Given the description of an element on the screen output the (x, y) to click on. 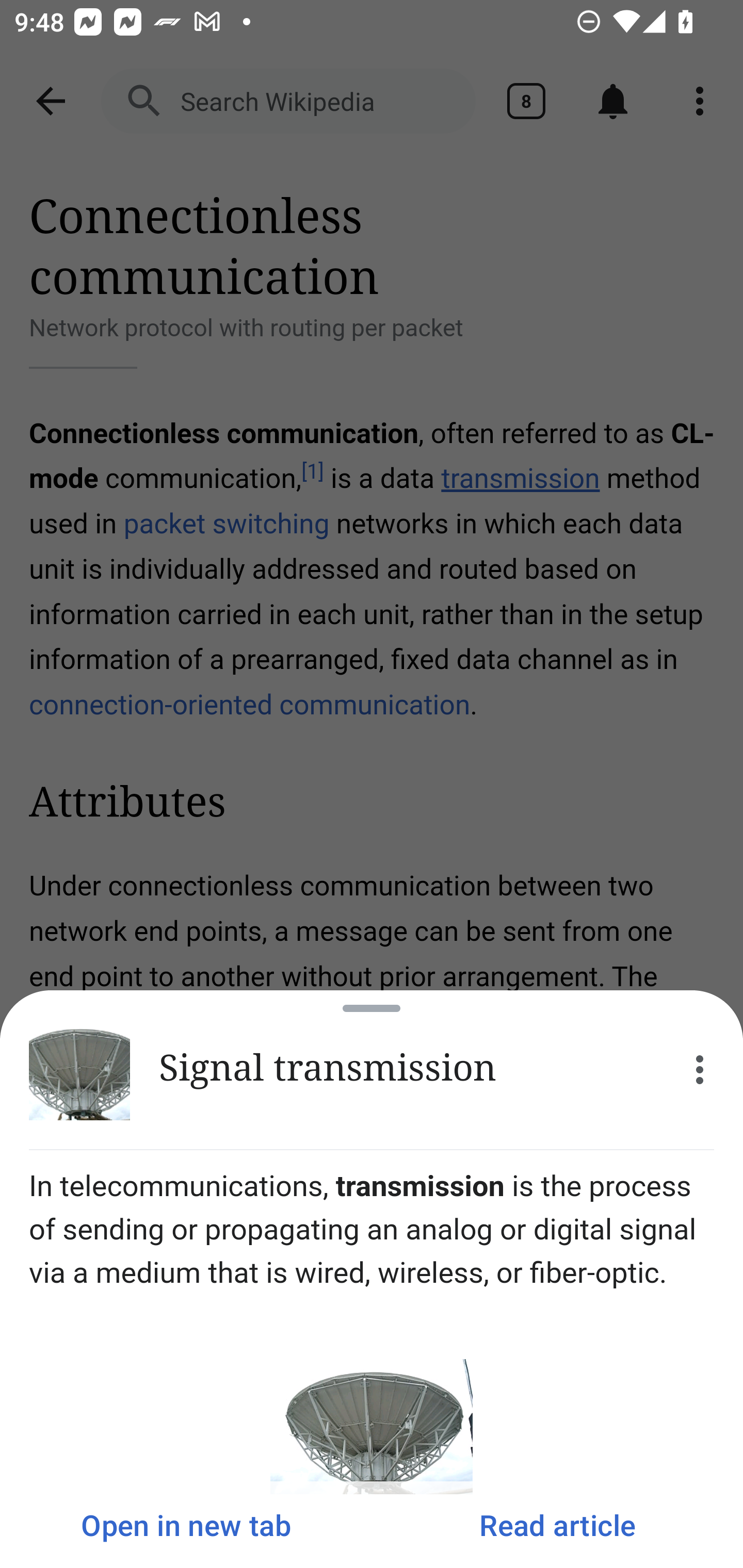
Signal transmission More options (371, 1069)
More options (699, 1070)
Open in new tab (185, 1524)
Read article (557, 1524)
